Given the description of an element on the screen output the (x, y) to click on. 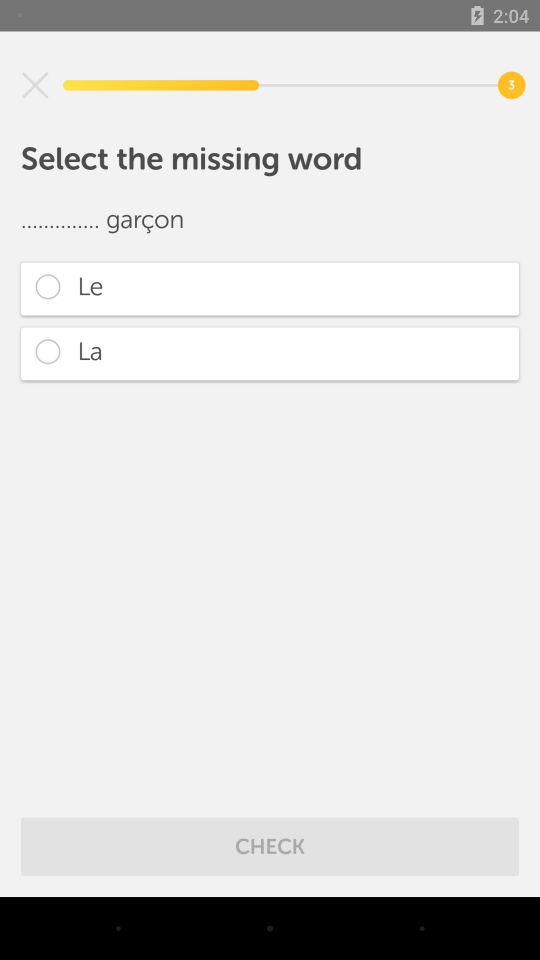
turn on check (270, 846)
